Given the description of an element on the screen output the (x, y) to click on. 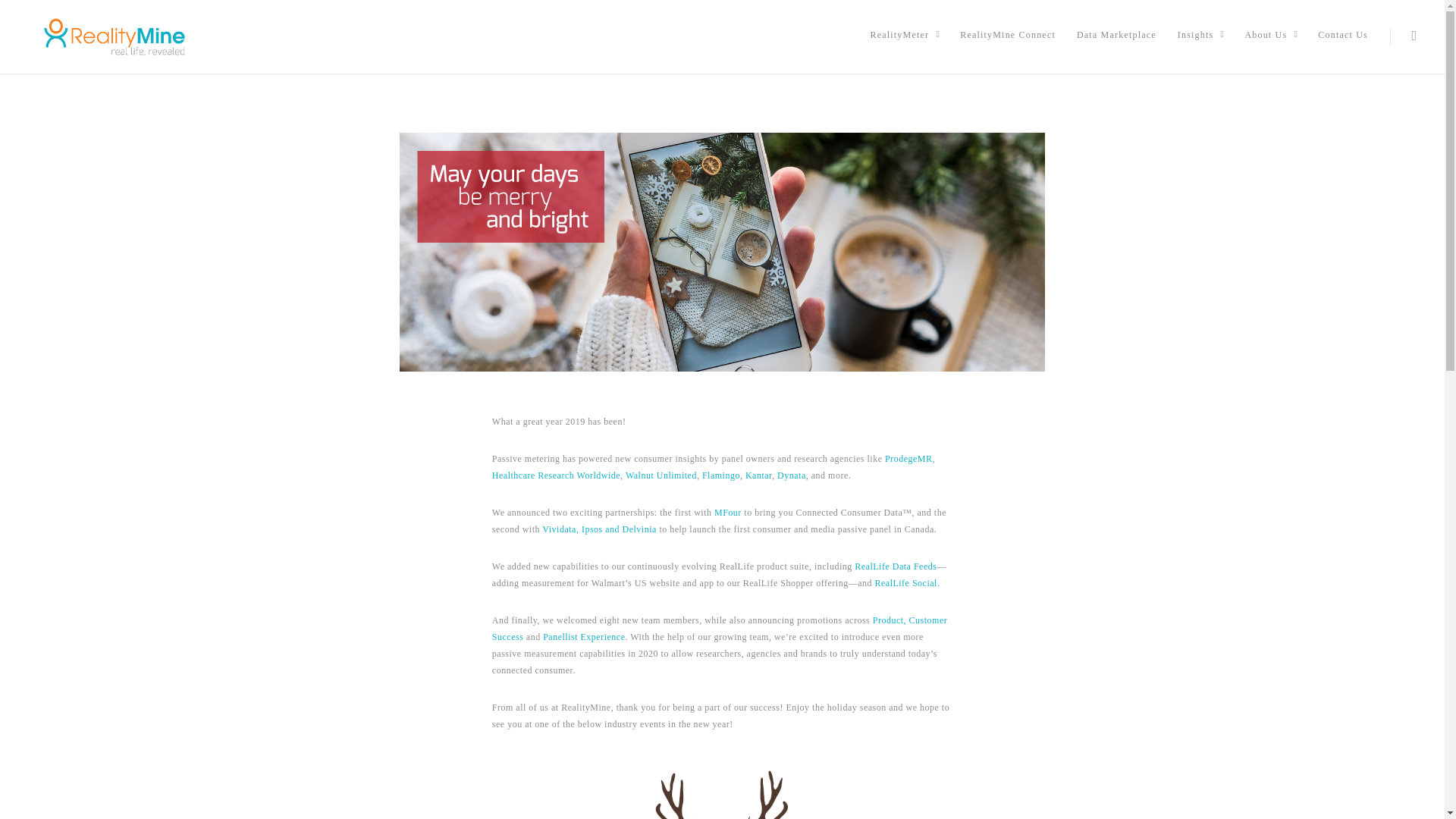
Data Marketplace (1116, 42)
MFour (727, 511)
RealityMine Connect (1007, 42)
RealLife Data Feeds (895, 566)
Insights (1200, 44)
Product, Customer Success (719, 628)
RealLife Social (905, 583)
Panellist Experience (583, 636)
Contact Us (1342, 42)
Dynata (791, 475)
